Given the description of an element on the screen output the (x, y) to click on. 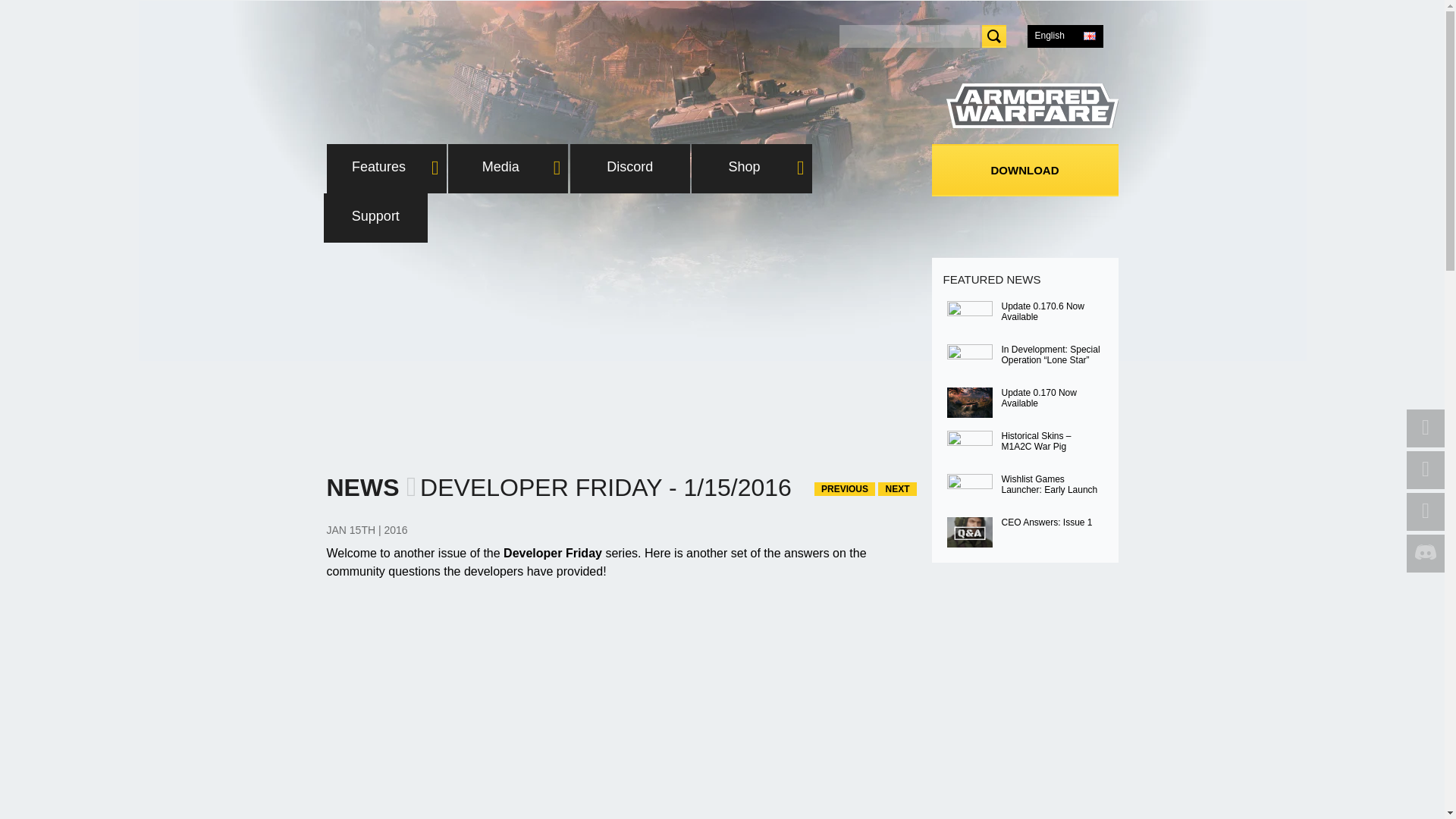
DOWNLOAD (1024, 170)
Armored Warfare (1032, 105)
Media (507, 168)
NEXT (896, 489)
Support (375, 217)
Shop (750, 168)
Discord (630, 168)
NEWS (362, 488)
English (1064, 35)
PREVIOUS (844, 489)
Features (385, 168)
